Given the description of an element on the screen output the (x, y) to click on. 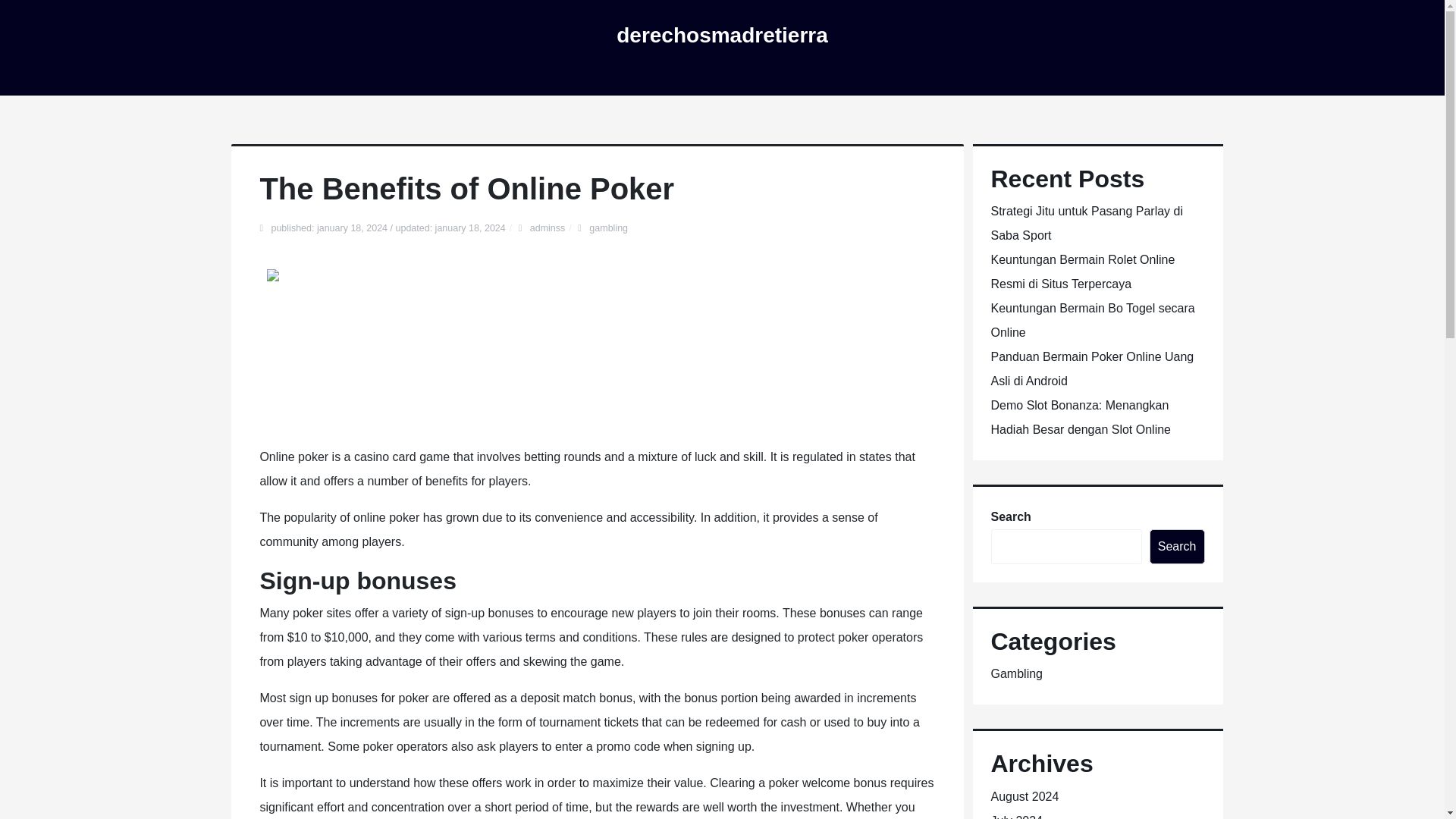
August 2024 (1024, 796)
Gambling (1016, 673)
derechosmadretierra (721, 34)
Demo Slot Bonanza: Menangkan Hadiah Besar dengan Slot Online (1080, 416)
Search (1177, 546)
adminss (547, 227)
Panduan Bermain Poker Online Uang Asli di Android (1091, 368)
Keuntungan Bermain Rolet Online Resmi di Situs Terpercaya (1082, 271)
July 2024 (1016, 816)
gambling (608, 227)
